Given the description of an element on the screen output the (x, y) to click on. 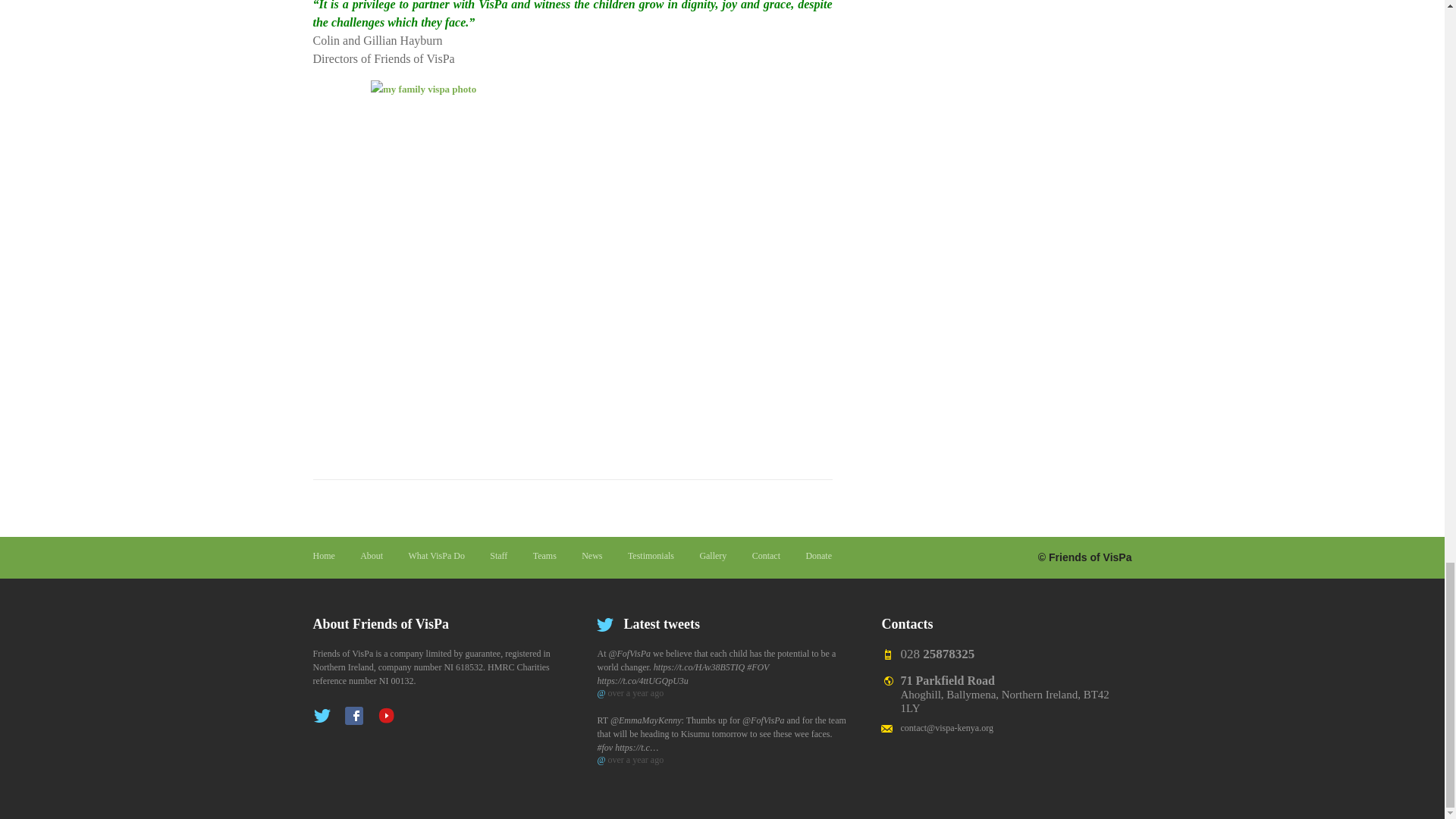
Donate (818, 555)
Follow EmmaMayKenny (645, 719)
Testimonials (650, 555)
What VisPa Do (436, 555)
News (591, 555)
Follow FofVisPa (628, 653)
Gallery (712, 555)
Teams (544, 555)
About (370, 555)
Follow FofVisPa (763, 719)
Staff (497, 555)
Home (323, 555)
Contact (766, 555)
